Given the description of an element on the screen output the (x, y) to click on. 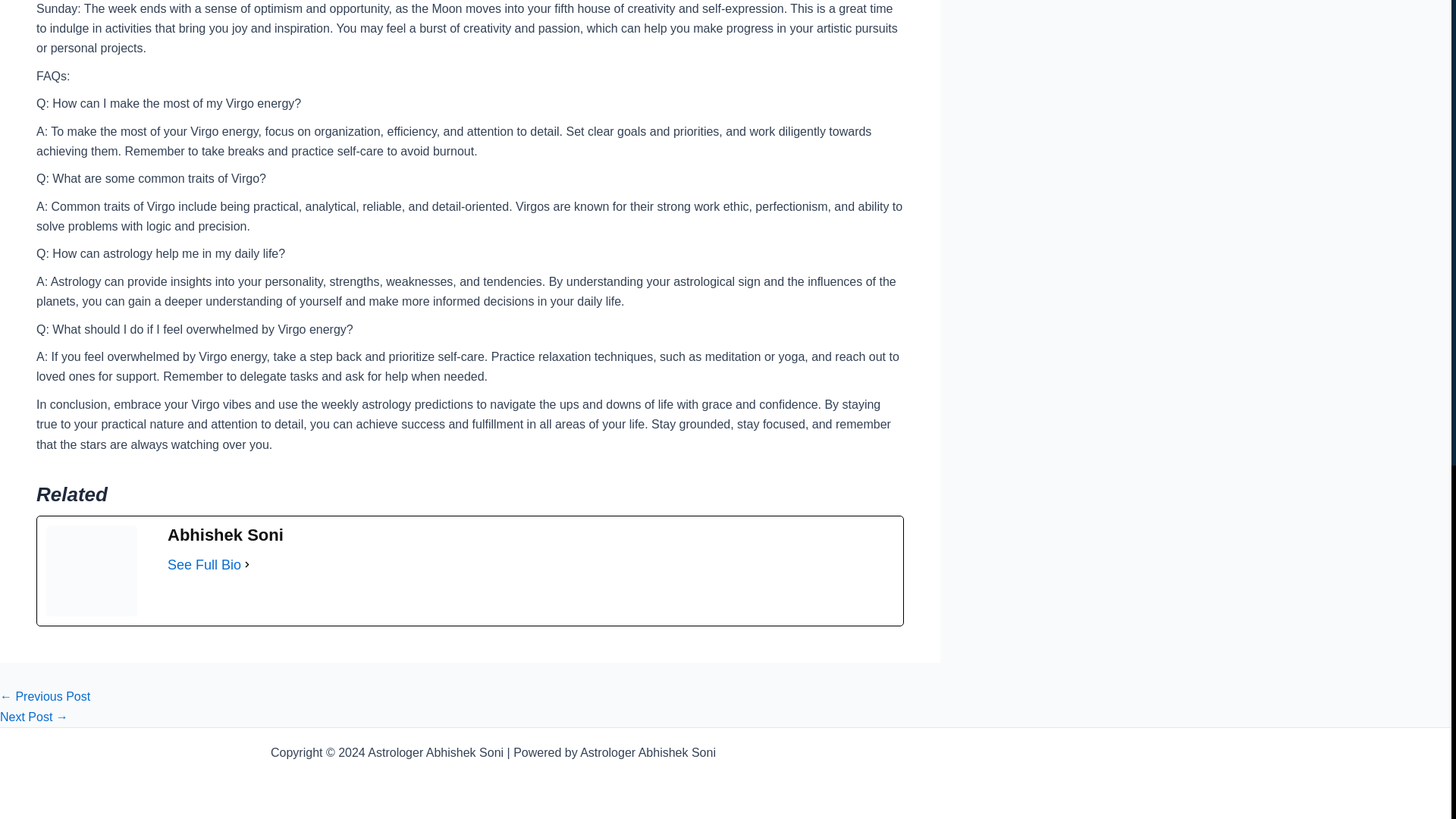
See Full Bio (204, 564)
